Given the description of an element on the screen output the (x, y) to click on. 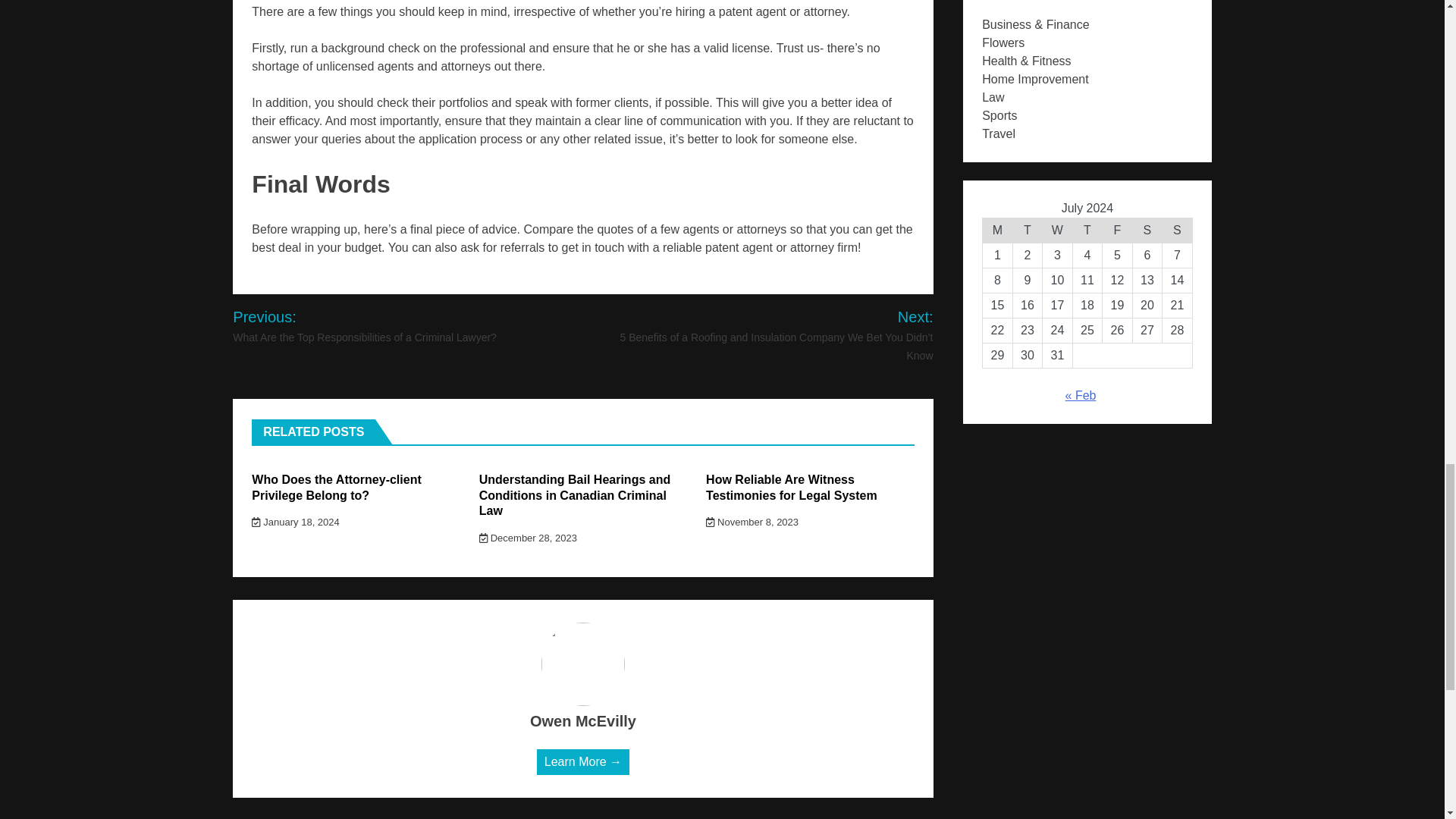
Monday (997, 230)
Saturday (1146, 230)
Wednesday (1057, 230)
Tuesday (1026, 230)
How Reliable Are Witness Testimonies for Legal System (791, 487)
December 28, 2023 (527, 537)
Thursday (1086, 230)
January 18, 2024 (295, 521)
Friday (1117, 230)
Who Does the Attorney-client Privilege Belong to? (335, 487)
Sunday (1176, 230)
